Given the description of an element on the screen output the (x, y) to click on. 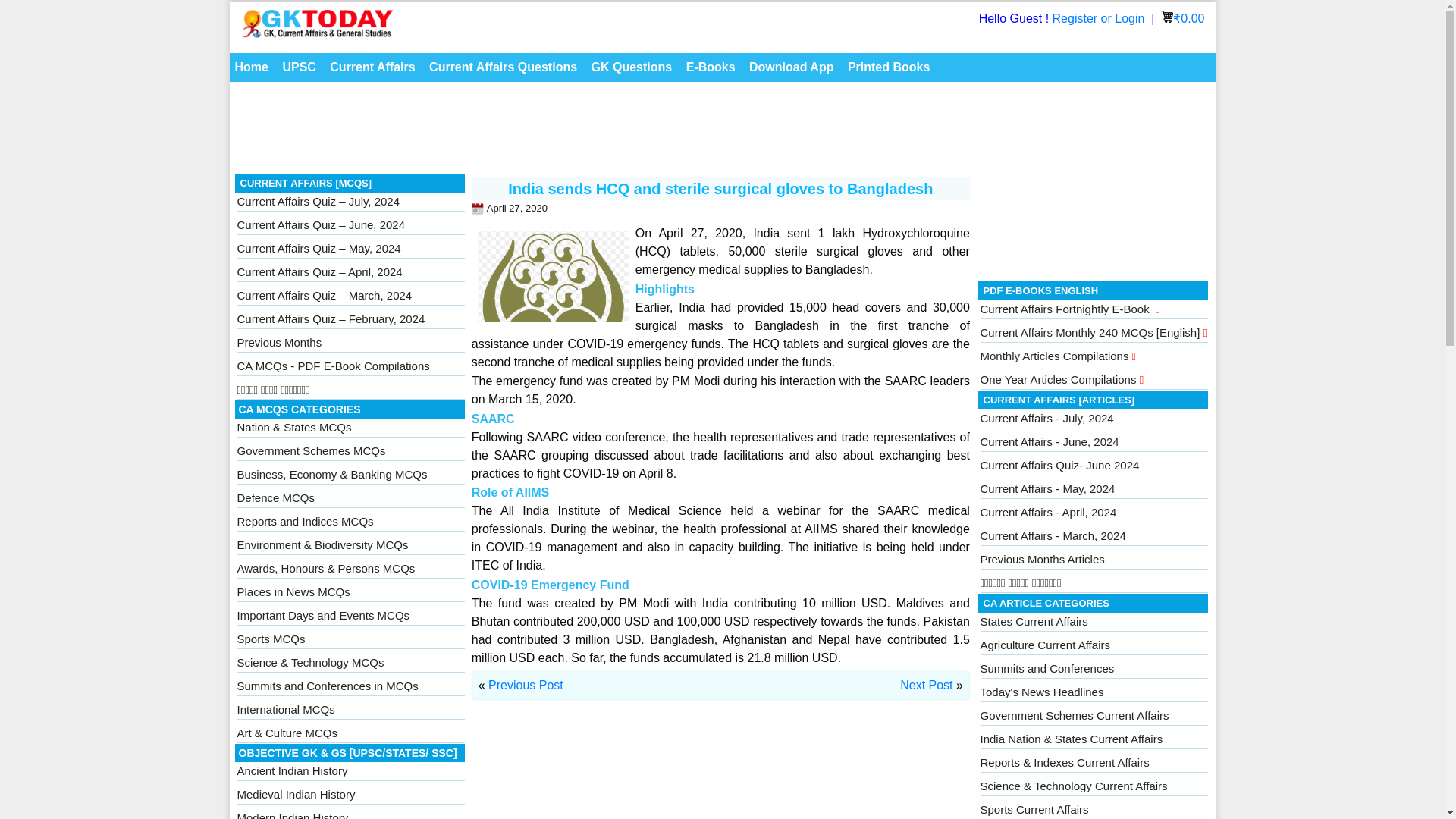
Current Affairs (372, 67)
CA MCQs - PDF E-Book Compilations (332, 365)
GK Questions (632, 67)
UPSC (298, 67)
Current Affairs Questions (502, 67)
Register or Login (1100, 18)
Printed Books (888, 67)
Advertisement (602, 131)
Download App (791, 67)
Home (250, 67)
E-Books (711, 67)
Next Post (925, 684)
Defence MCQs (274, 497)
Previous Months (278, 341)
Advertisement (1093, 181)
